Given the description of an element on the screen output the (x, y) to click on. 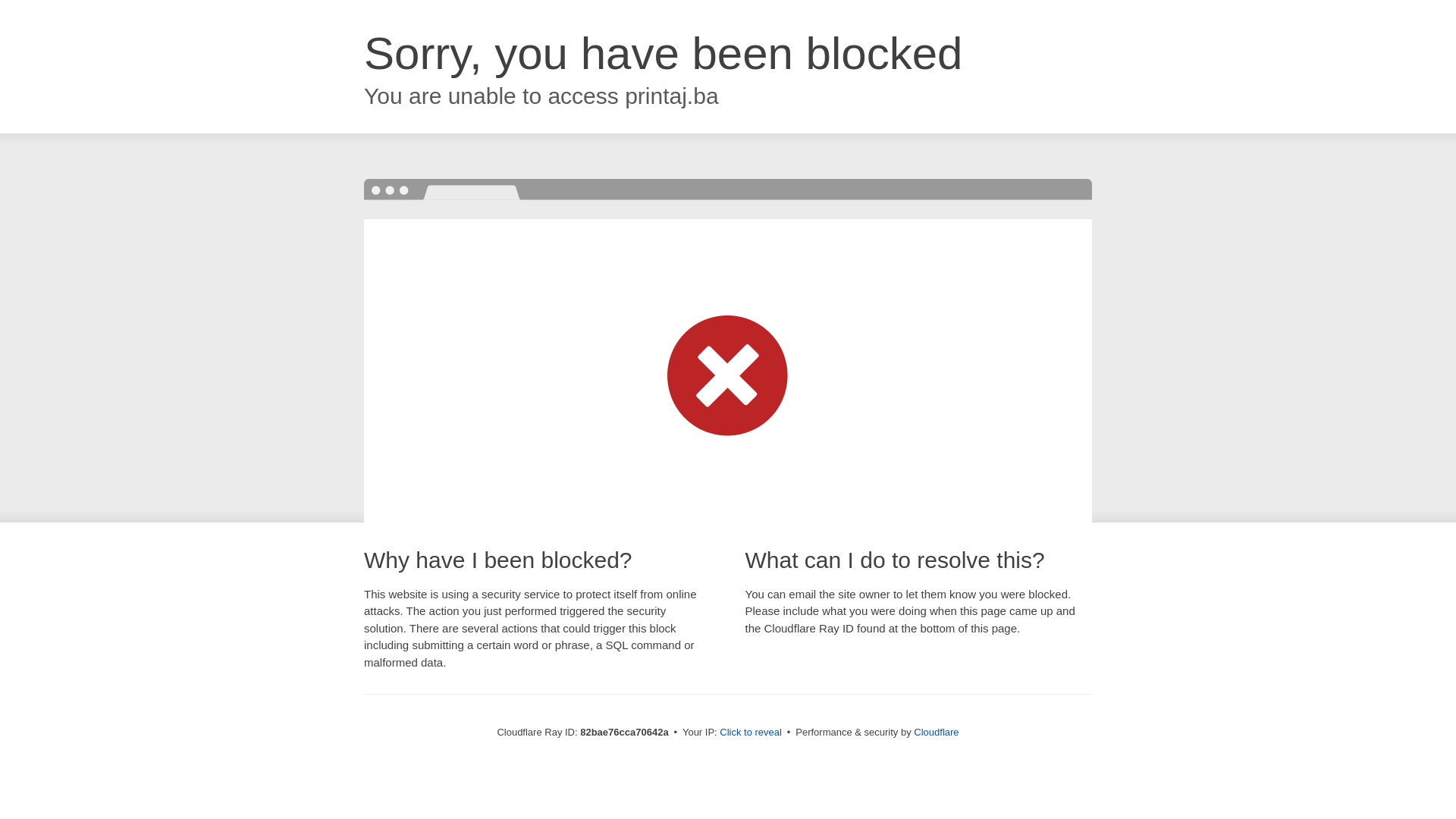
Cloudflare Element type: text (935, 731)
Click to reveal Element type: text (750, 732)
